Given the description of an element on the screen output the (x, y) to click on. 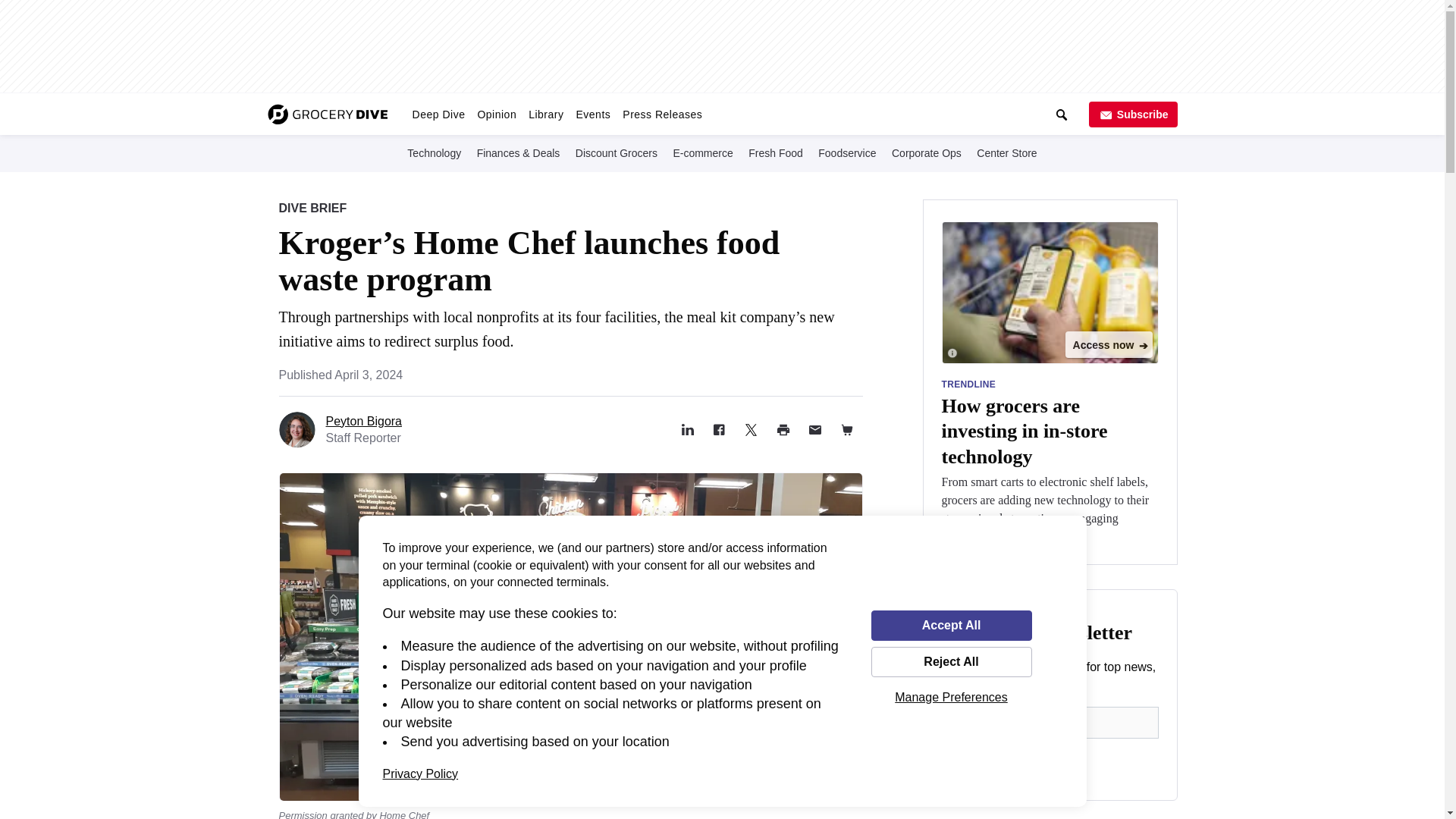
Corporate Ops (925, 152)
Center Store (1006, 152)
Opinion (496, 114)
Technology (434, 152)
Reject All (950, 662)
Events (592, 114)
Subscribe (1132, 114)
Privacy Policy (419, 773)
Foodservice (847, 152)
Deep Dive (438, 114)
